Given the description of an element on the screen output the (x, y) to click on. 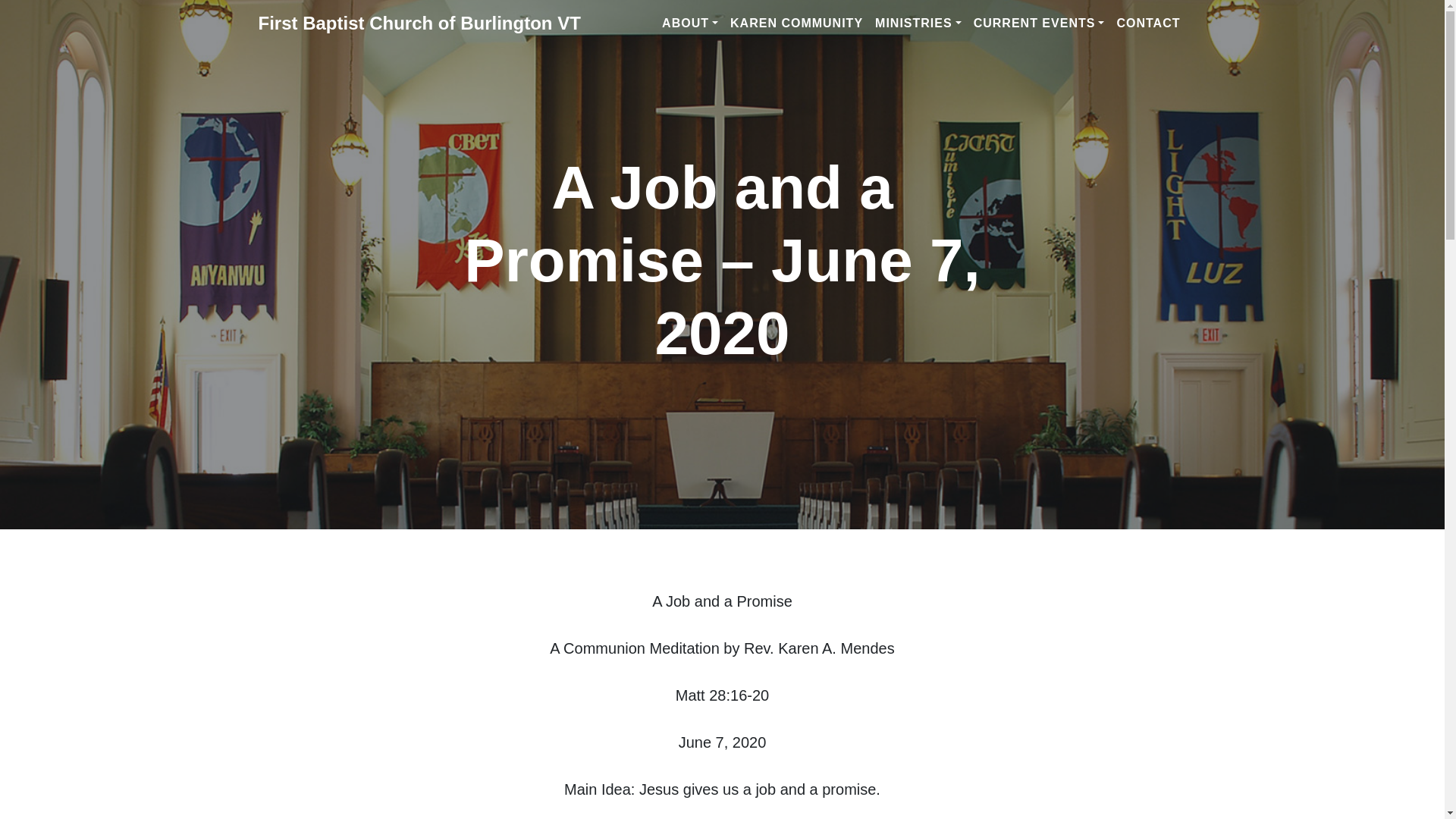
MINISTRIES (918, 23)
ABOUT (689, 23)
First Baptist Church of Burlington VT (418, 22)
KAREN COMMUNITY (796, 23)
CURRENT EVENTS (1039, 23)
CONTACT (1147, 23)
